Given the description of an element on the screen output the (x, y) to click on. 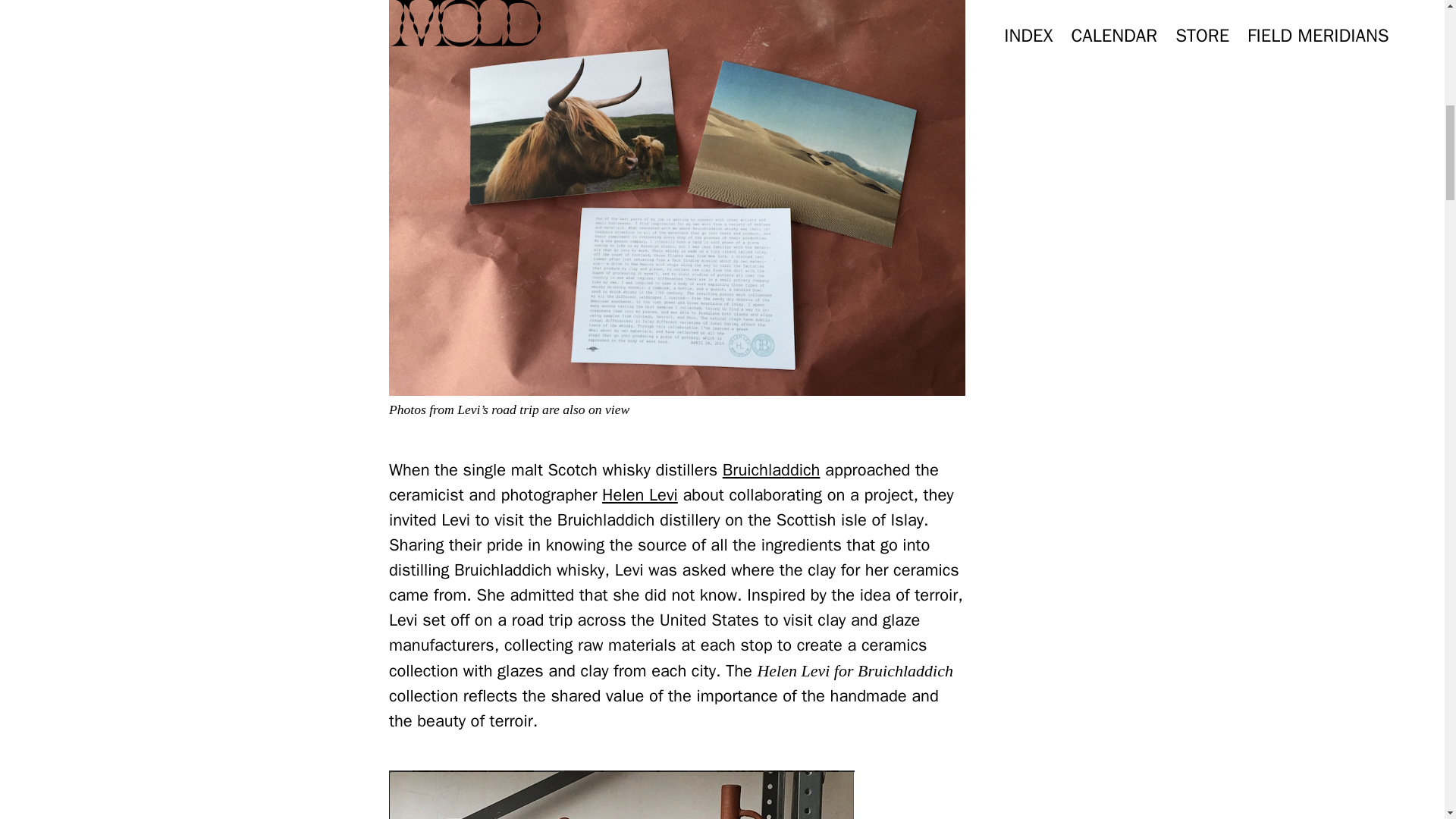
Helen Levi (640, 495)
Bruichladdich (771, 469)
